Given the description of an element on the screen output the (x, y) to click on. 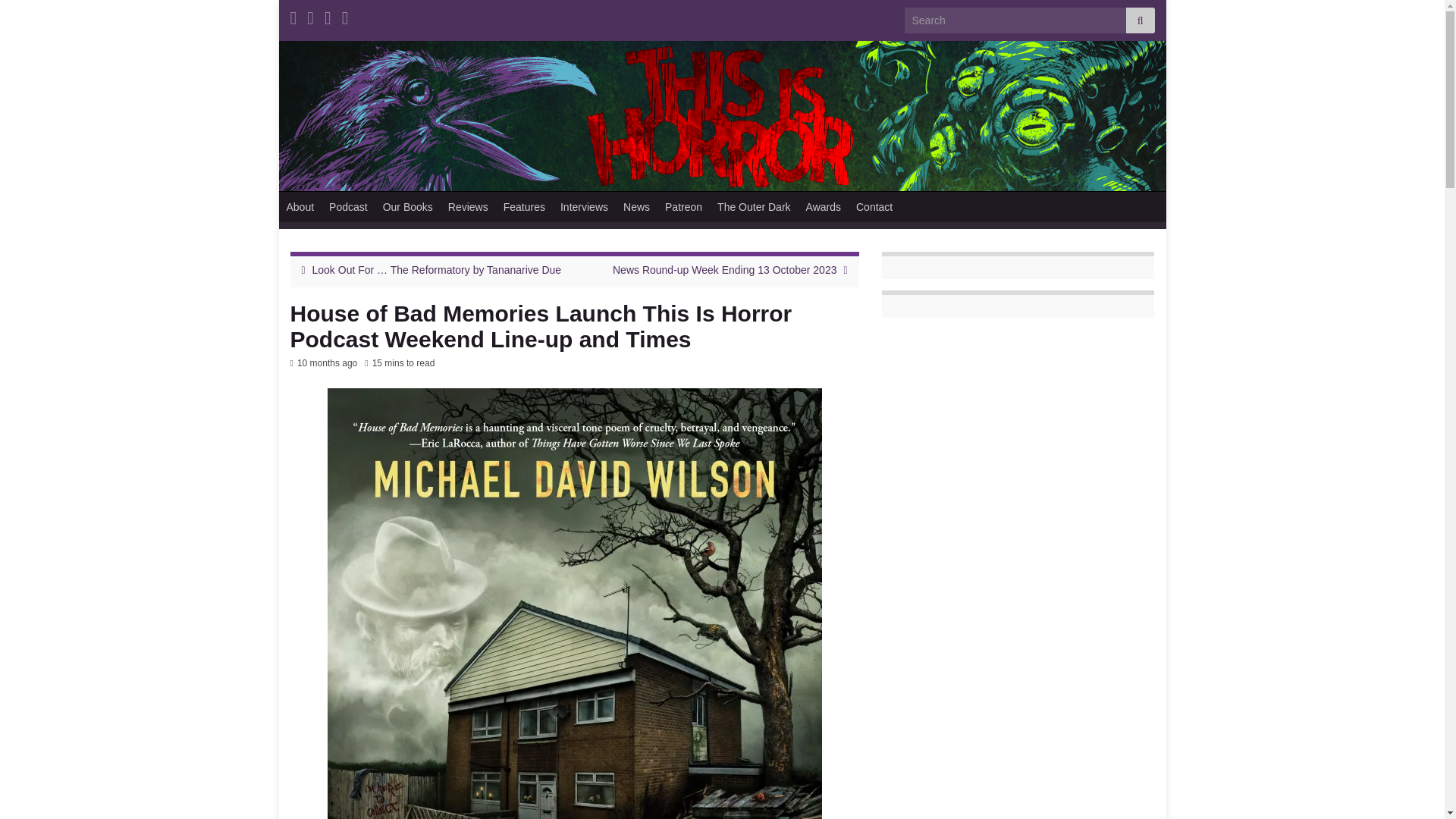
About (300, 206)
cropped-header-1170x198px.png (722, 115)
Features (524, 206)
Interviews (584, 206)
Contact (873, 206)
Awards (822, 206)
News (636, 206)
The Outer Dark (753, 206)
Podcast (348, 206)
